Given the description of an element on the screen output the (x, y) to click on. 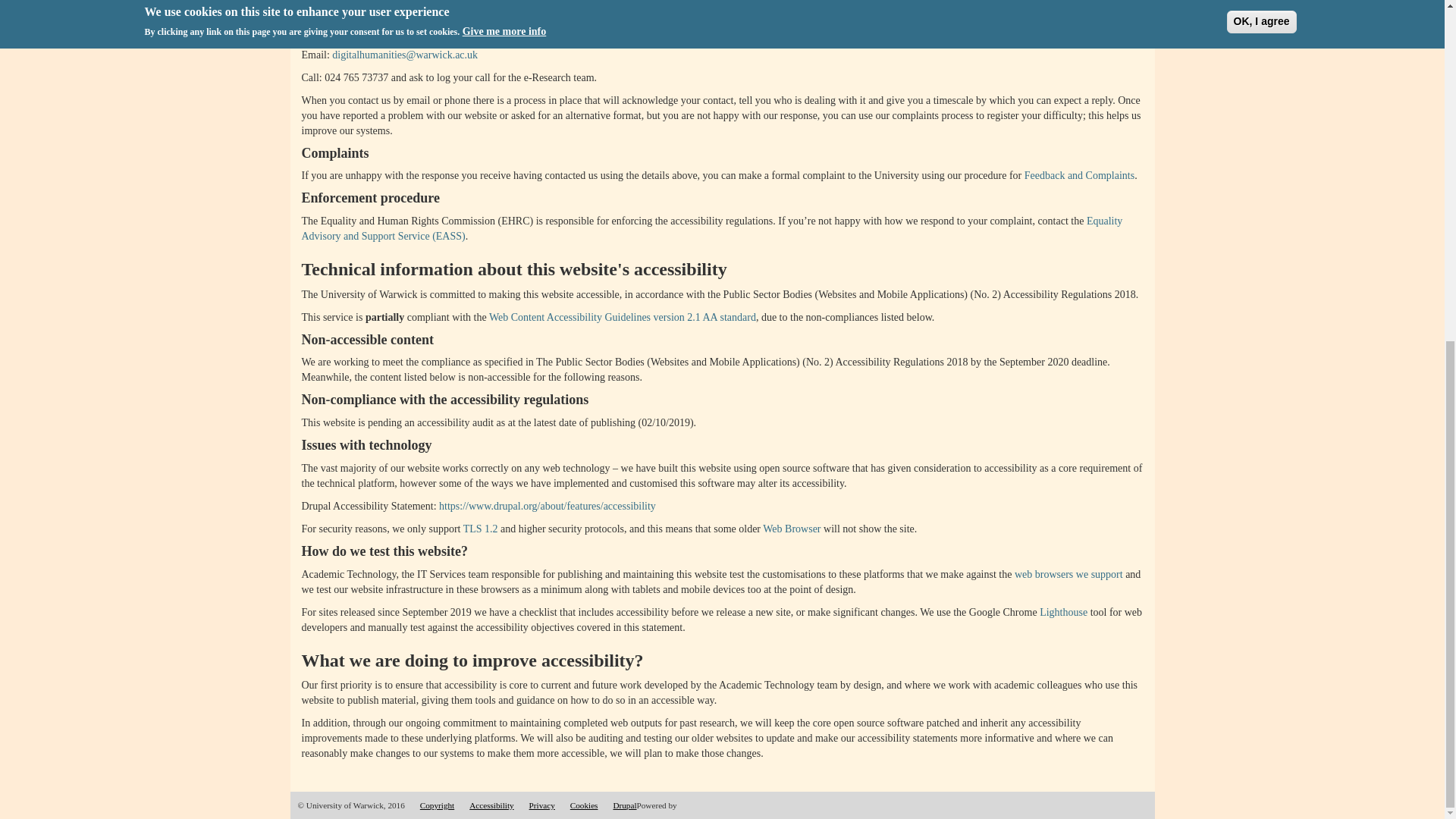
Web Browser (791, 528)
TLS 1.2 (480, 528)
Web Content Accessibility Guidelines version 2.1 AA standard (622, 317)
Accessibility information (490, 805)
Privacy (541, 805)
Cookies (584, 805)
Drupal (624, 805)
Lighthouse (1063, 612)
Accessibility (490, 805)
Feedback and Complaints (1079, 174)
web browsers we support (1068, 573)
Copyright (437, 805)
